Given the description of an element on the screen output the (x, y) to click on. 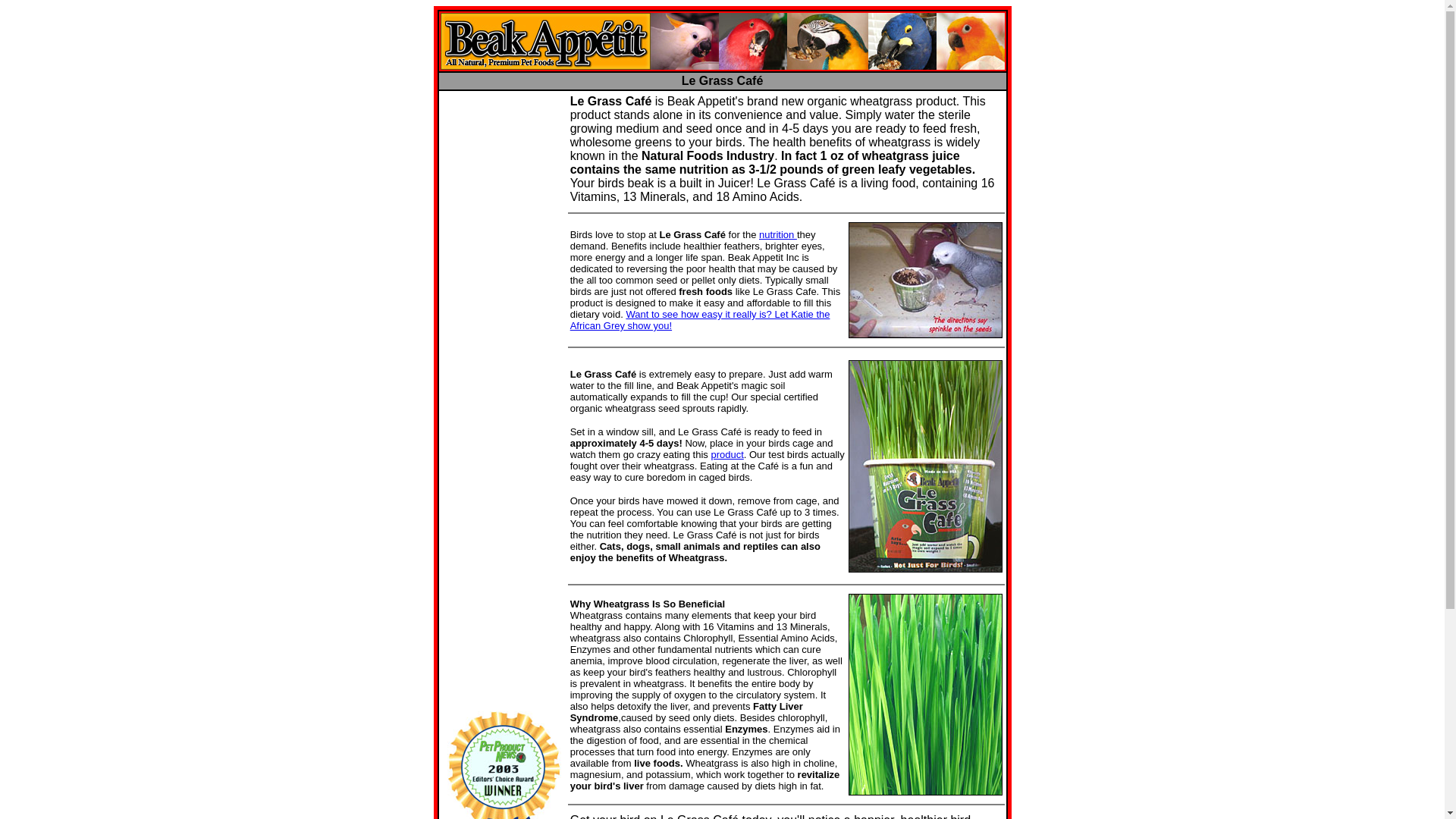
nutrition (777, 234)
product (726, 454)
